Given the description of an element on the screen output the (x, y) to click on. 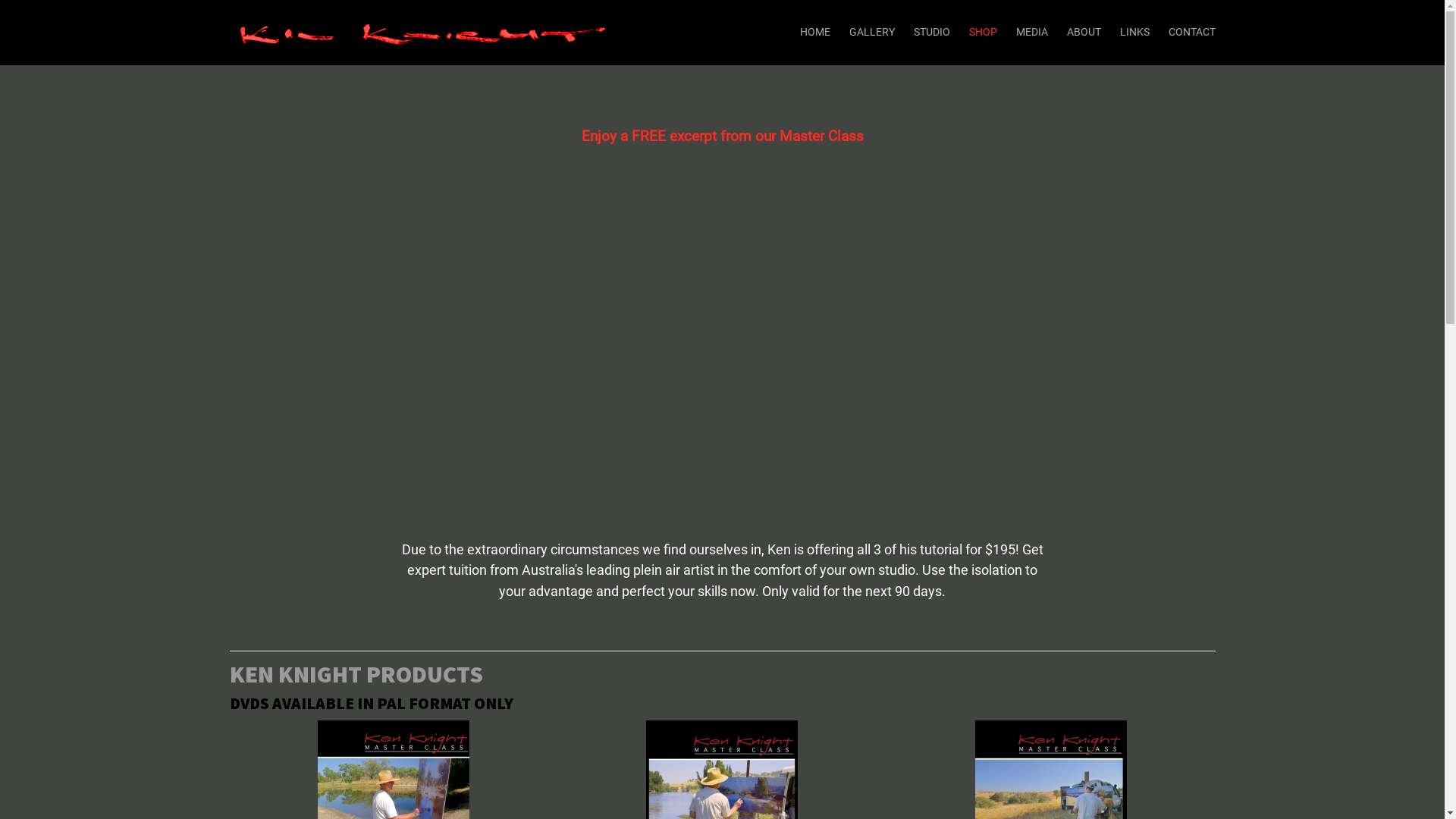
SHOP Element type: text (983, 31)
ABOUT Element type: text (1083, 31)
LINKS Element type: text (1133, 31)
CONTACT Element type: text (1190, 31)
MEDIA Element type: text (1032, 31)
LINKS Element type: text (1133, 31)
Ken Knight Master Class - Golden Pastures Series Element type: hover (1050, 795)
MEDIA Element type: text (1032, 31)
HOME Element type: text (814, 31)
ABOUT Element type: text (1083, 31)
STUDIO Element type: text (931, 31)
Ken Knight Master Class - River Series Element type: hover (721, 795)
Ken Knight Master Class - Waterhole Series Element type: hover (393, 795)
CONTACT Element type: text (1190, 31)
GALLERY Element type: text (871, 31)
SHOP Element type: text (983, 31)
GALLERY Element type: text (871, 31)
HOME Element type: text (814, 31)
STUDIO Element type: text (931, 31)
